Given the description of an element on the screen output the (x, y) to click on. 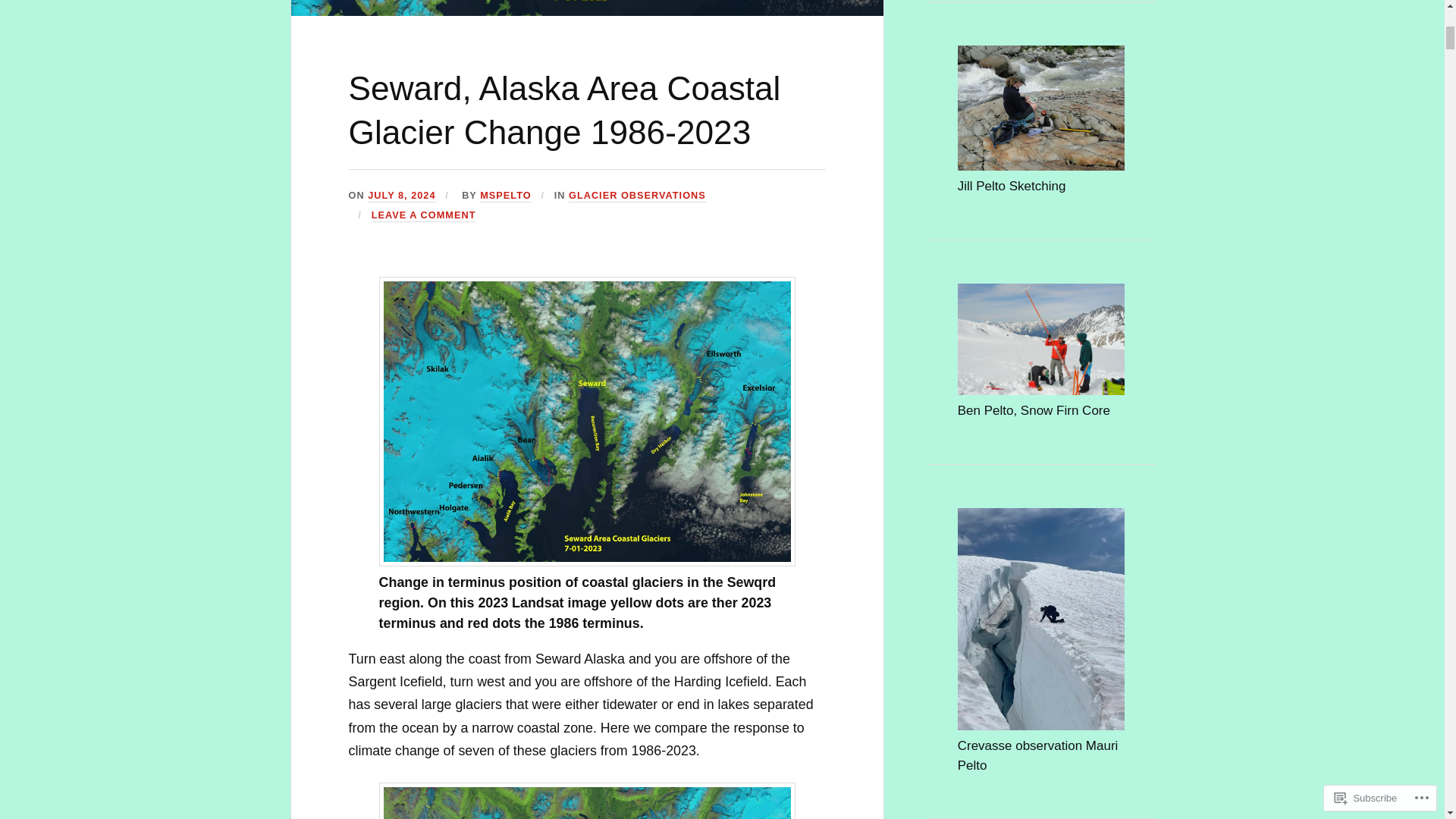
GLACIER OBSERVATIONS (637, 195)
LEAVE A COMMENT (423, 215)
Seward, Alaska Area Coastal Glacier Change 1986-2023 (564, 109)
JULY 8, 2024 (401, 195)
MSPELTO (505, 195)
